Given the description of an element on the screen output the (x, y) to click on. 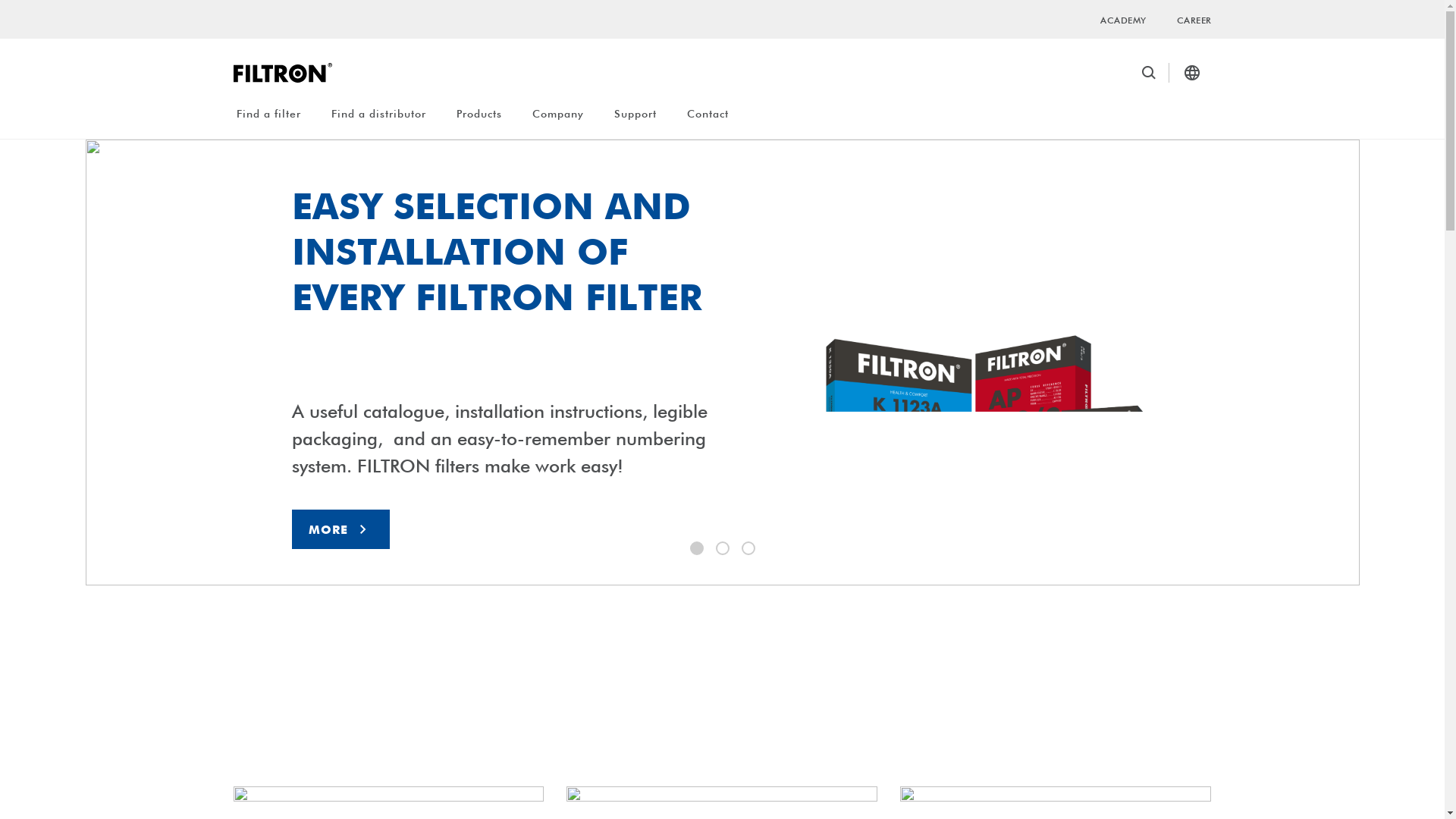
Support (635, 113)
ACADEMY (1123, 19)
Find a distributor (377, 113)
External Site (721, 685)
Products (479, 113)
Company (557, 113)
Find a filter (268, 113)
Filters packshot with packaging (960, 453)
FILTRON Logo (281, 72)
CAREER (1193, 19)
